Given the description of an element on the screen output the (x, y) to click on. 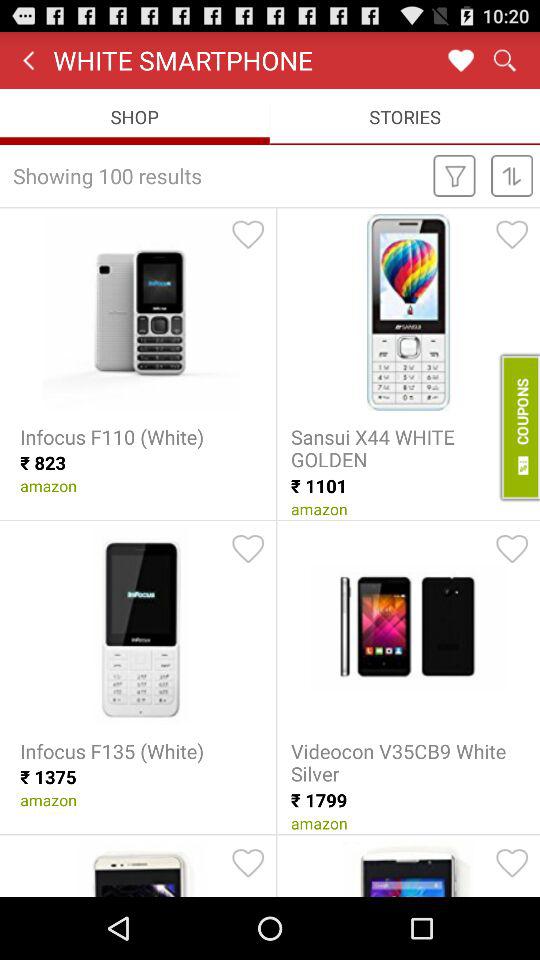
open coupons (518, 427)
